Given the description of an element on the screen output the (x, y) to click on. 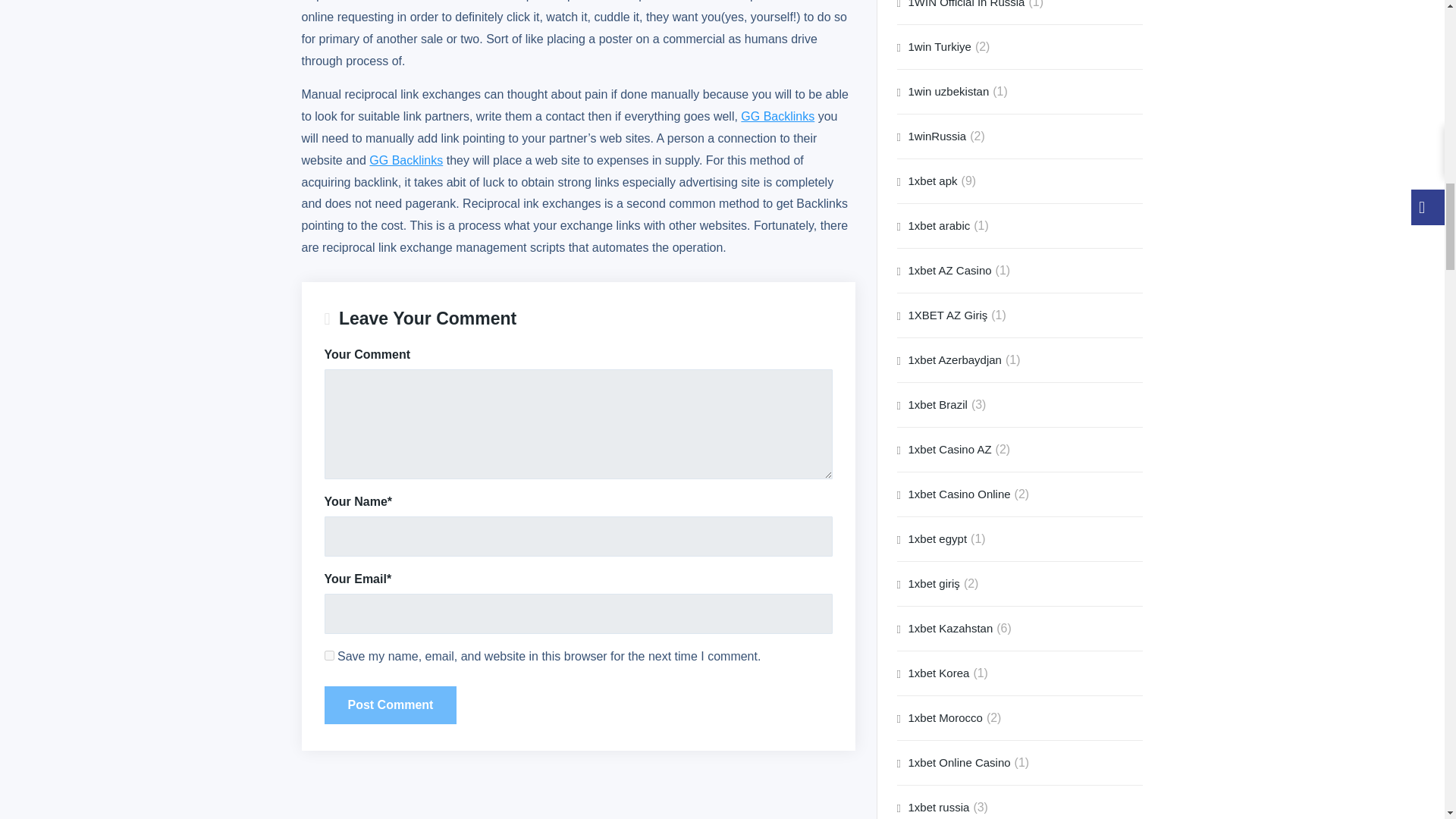
GG Backlinks (405, 160)
yes (329, 655)
Post Comment (390, 704)
Post Comment (390, 704)
GG Backlinks (777, 115)
